Given the description of an element on the screen output the (x, y) to click on. 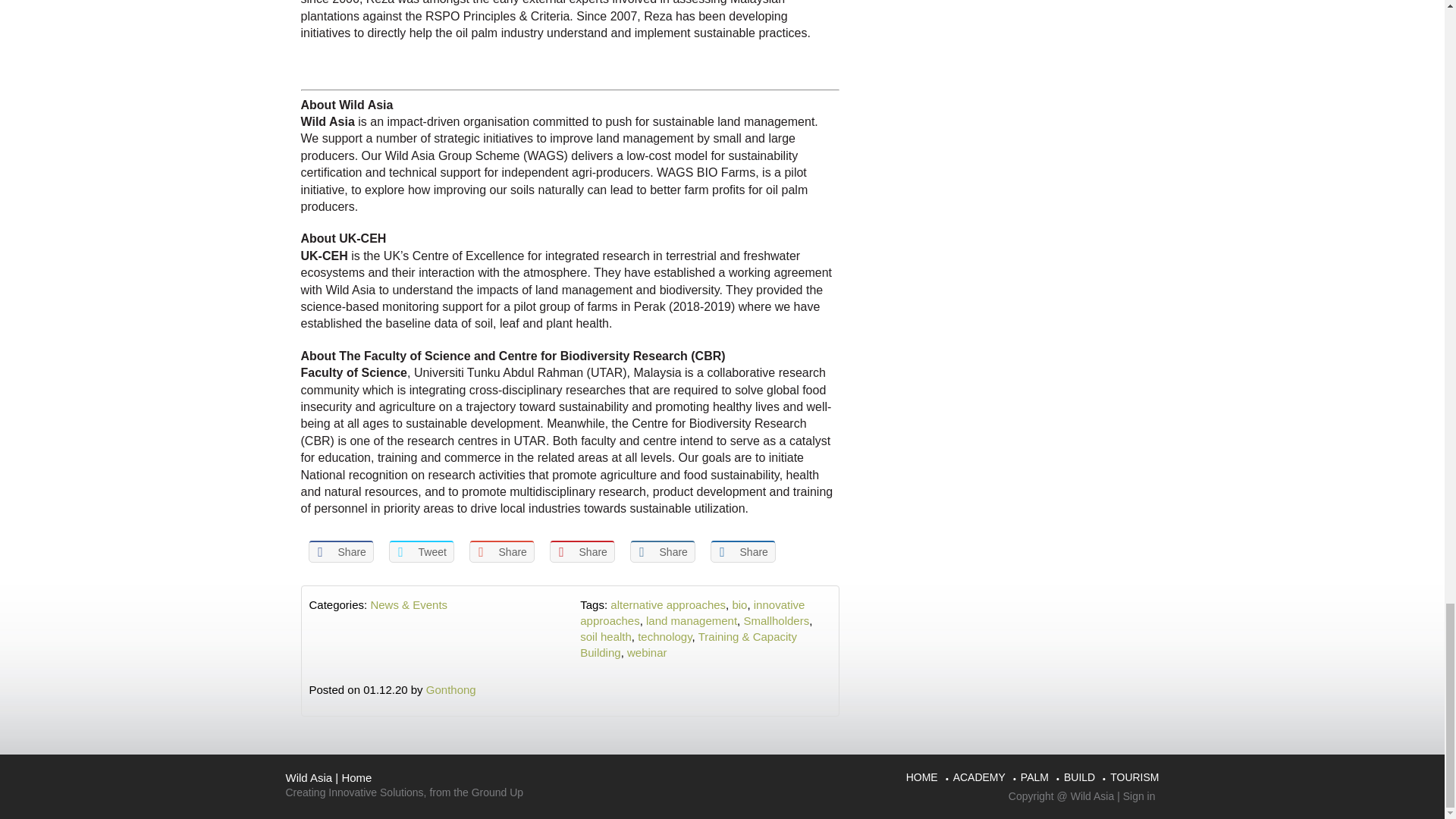
Share (661, 551)
Share (742, 551)
Share on Twitter (420, 551)
Share on Digg (742, 551)
Tweet (420, 551)
Share (501, 551)
Share on Pinterest (581, 551)
soil health (605, 635)
innovative approaches (692, 612)
Share (581, 551)
Smallholders (775, 620)
Share (339, 551)
Share on Google Plus (501, 551)
land management (691, 620)
Share on LinkedIn (661, 551)
